Given the description of an element on the screen output the (x, y) to click on. 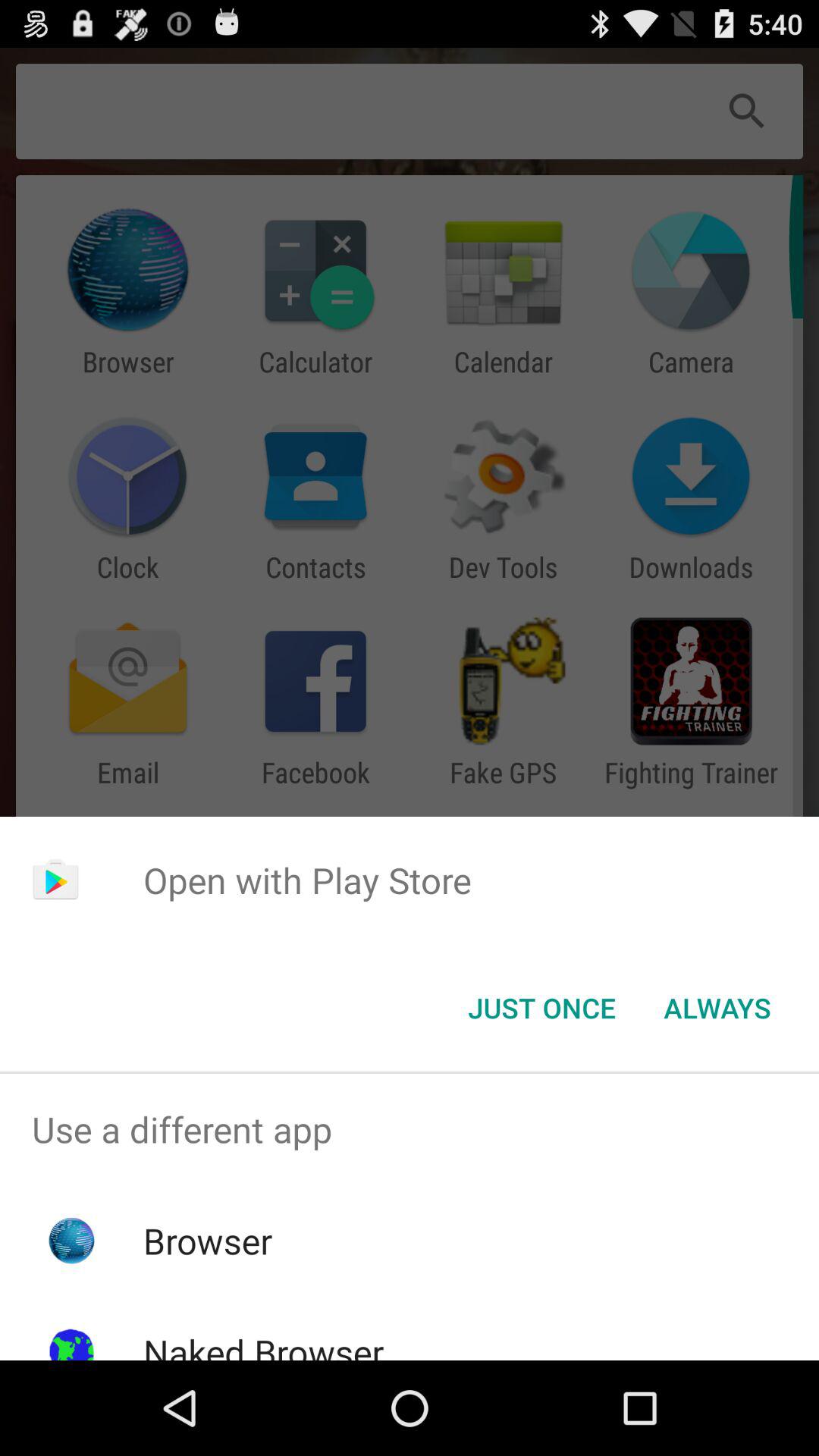
launch use a different app (409, 1129)
